Given the description of an element on the screen output the (x, y) to click on. 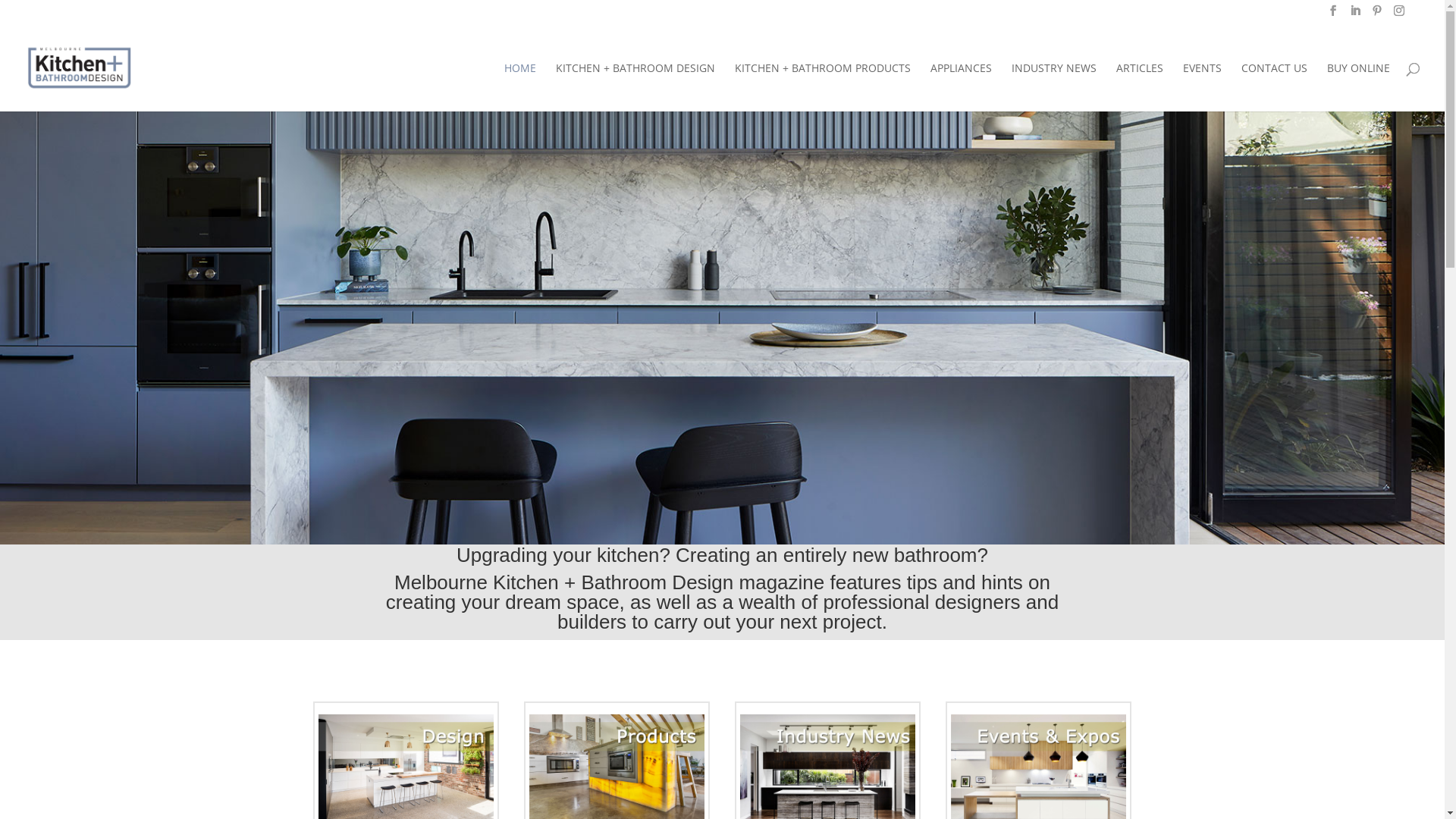
MKB27_hero Element type: hover (722, 327)
KITCHEN + BATHROOM DESIGN Element type: text (635, 86)
CONTACT US Element type: text (1274, 86)
INDUSTRY NEWS Element type: text (1053, 86)
BUY ONLINE Element type: text (1358, 86)
HOME Element type: text (520, 86)
APPLIANCES Element type: text (960, 86)
ARTICLES Element type: text (1139, 86)
EVENTS Element type: text (1202, 86)
KITCHEN + BATHROOM PRODUCTS Element type: text (822, 86)
